Given the description of an element on the screen output the (x, y) to click on. 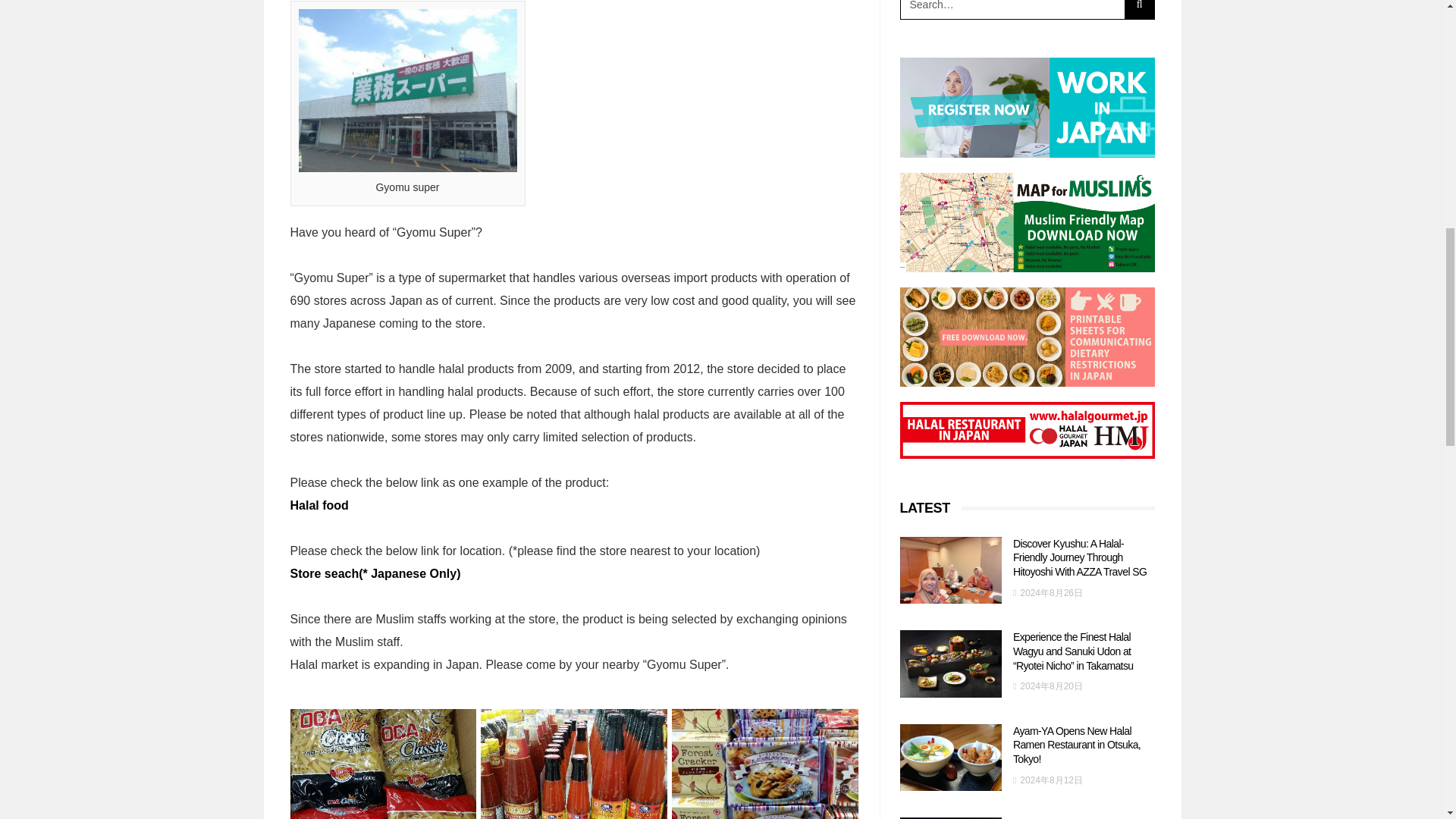
Snack (765, 763)
Halal food (318, 504)
OBA Classic (382, 763)
Gyomu super (407, 89)
Seasoning (573, 763)
